Given the description of an element on the screen output the (x, y) to click on. 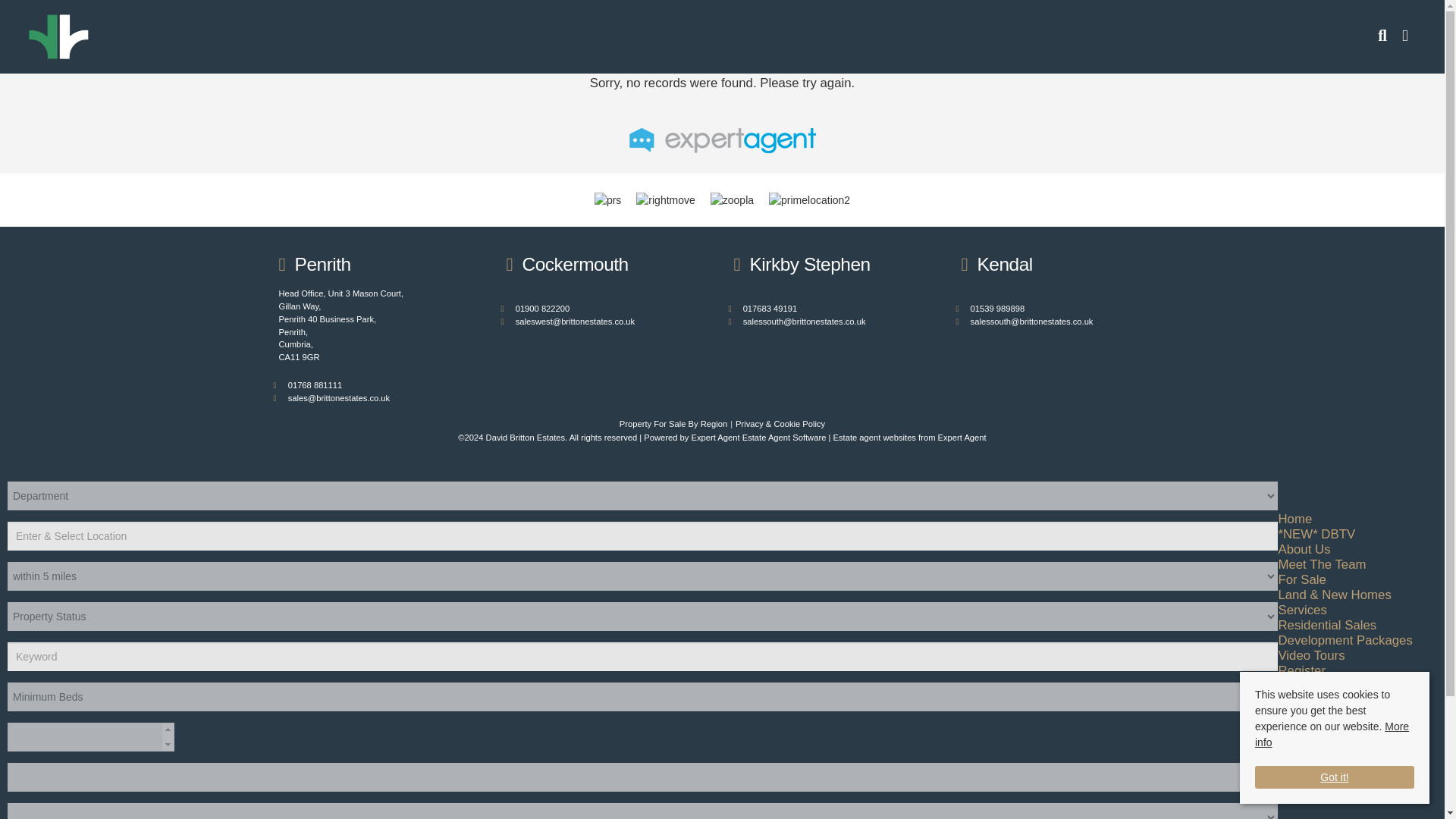
Estate agent websites (873, 437)
Estate Agent Software (784, 437)
Property For Sale By Region (673, 423)
More info (1332, 728)
Got it! (1334, 768)
